Given the description of an element on the screen output the (x, y) to click on. 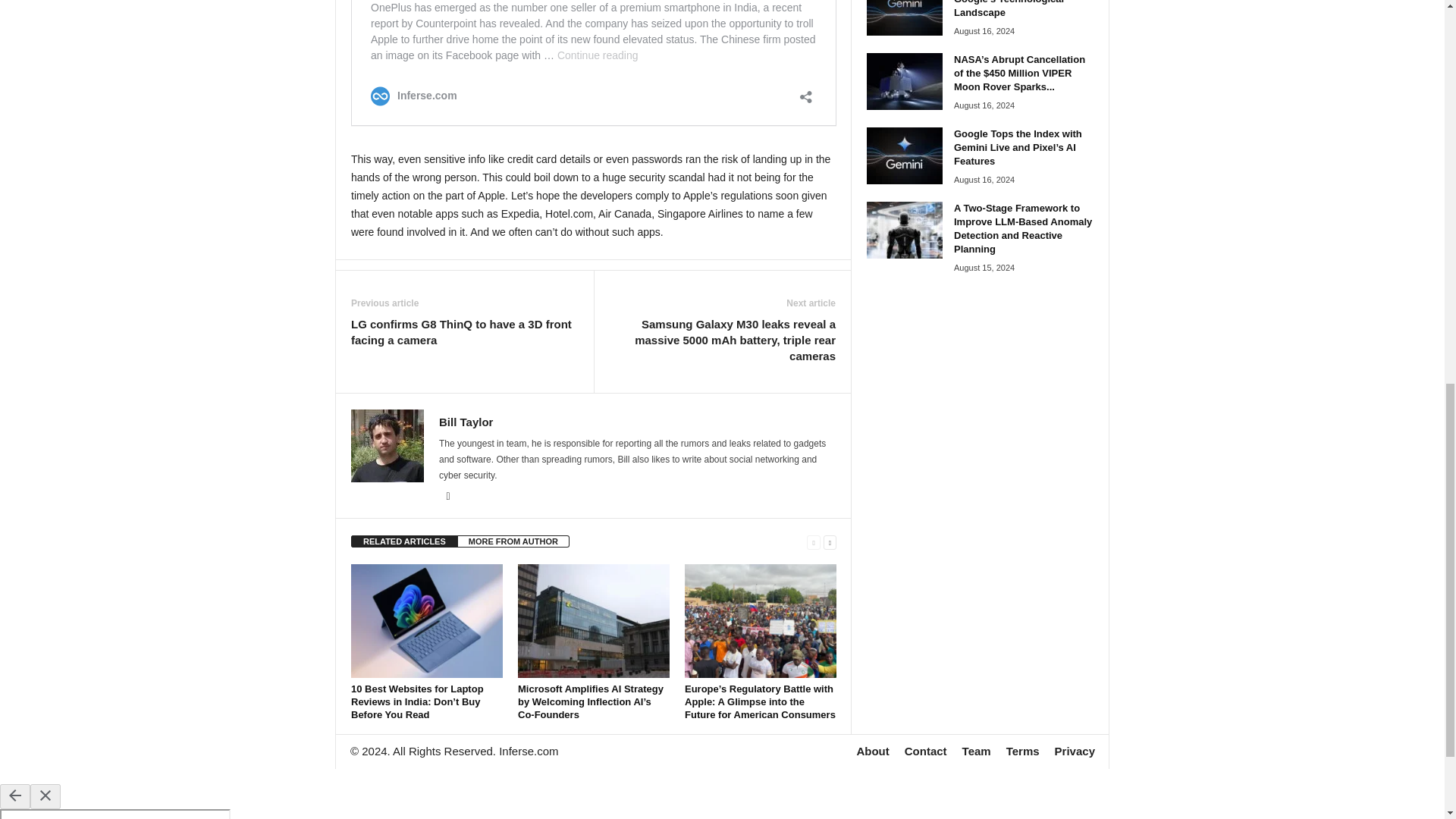
RELATED ARTICLES (404, 541)
Twitter (448, 496)
LG confirms G8 ThinQ to have a 3D front facing a camera (464, 332)
Bill Taylor (466, 421)
